Given the description of an element on the screen output the (x, y) to click on. 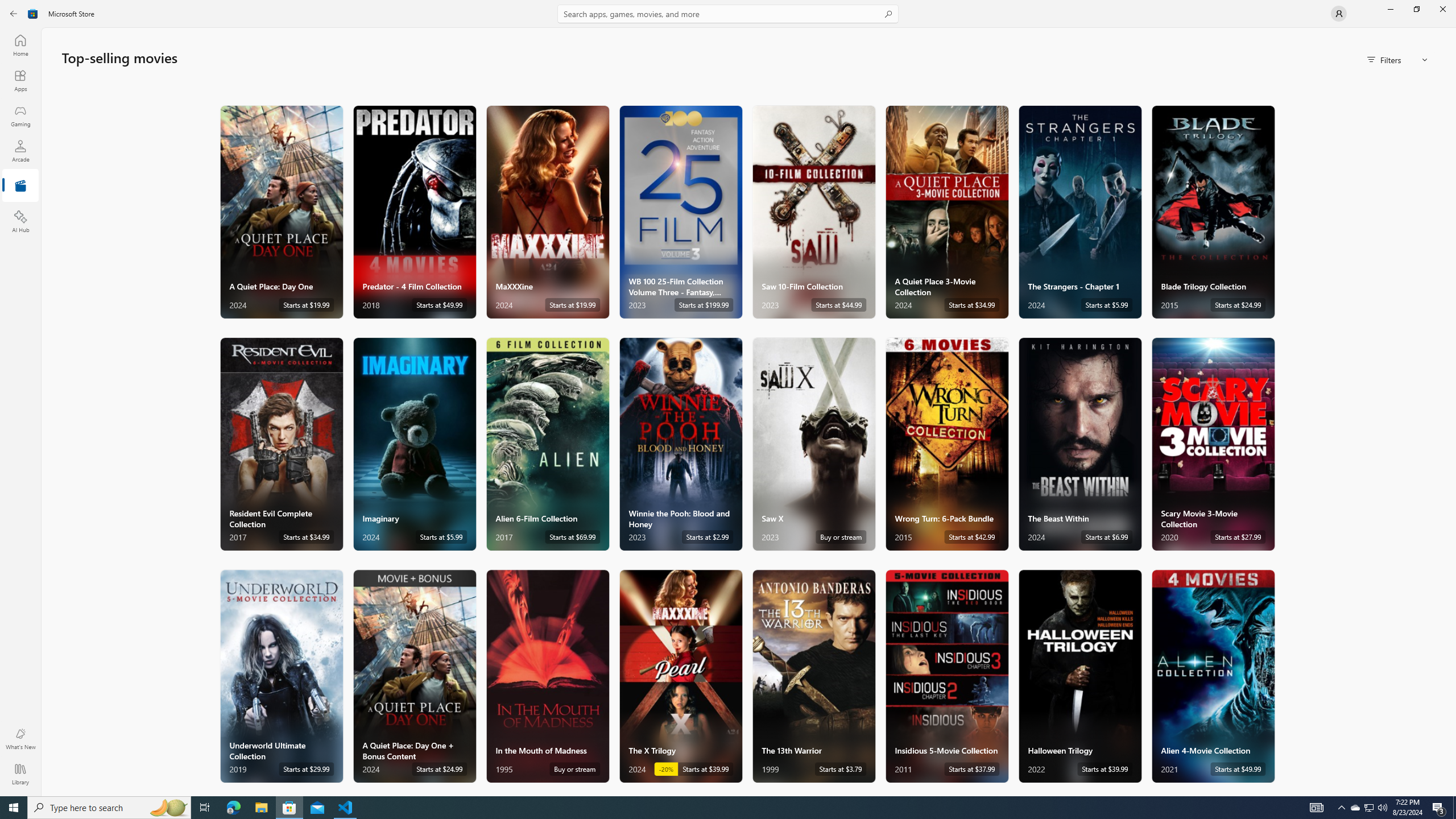
Search (727, 13)
Minimize Microsoft Store (1390, 9)
The X Trilogy. -20% Starts at $39.99   (680, 675)
Filters (1397, 59)
Alien 4-Movie Collection. Starts at $49.99   (1213, 675)
Apps (20, 80)
Restore Microsoft Store (1416, 9)
Entertainment (20, 185)
Home (20, 45)
